Given the description of an element on the screen output the (x, y) to click on. 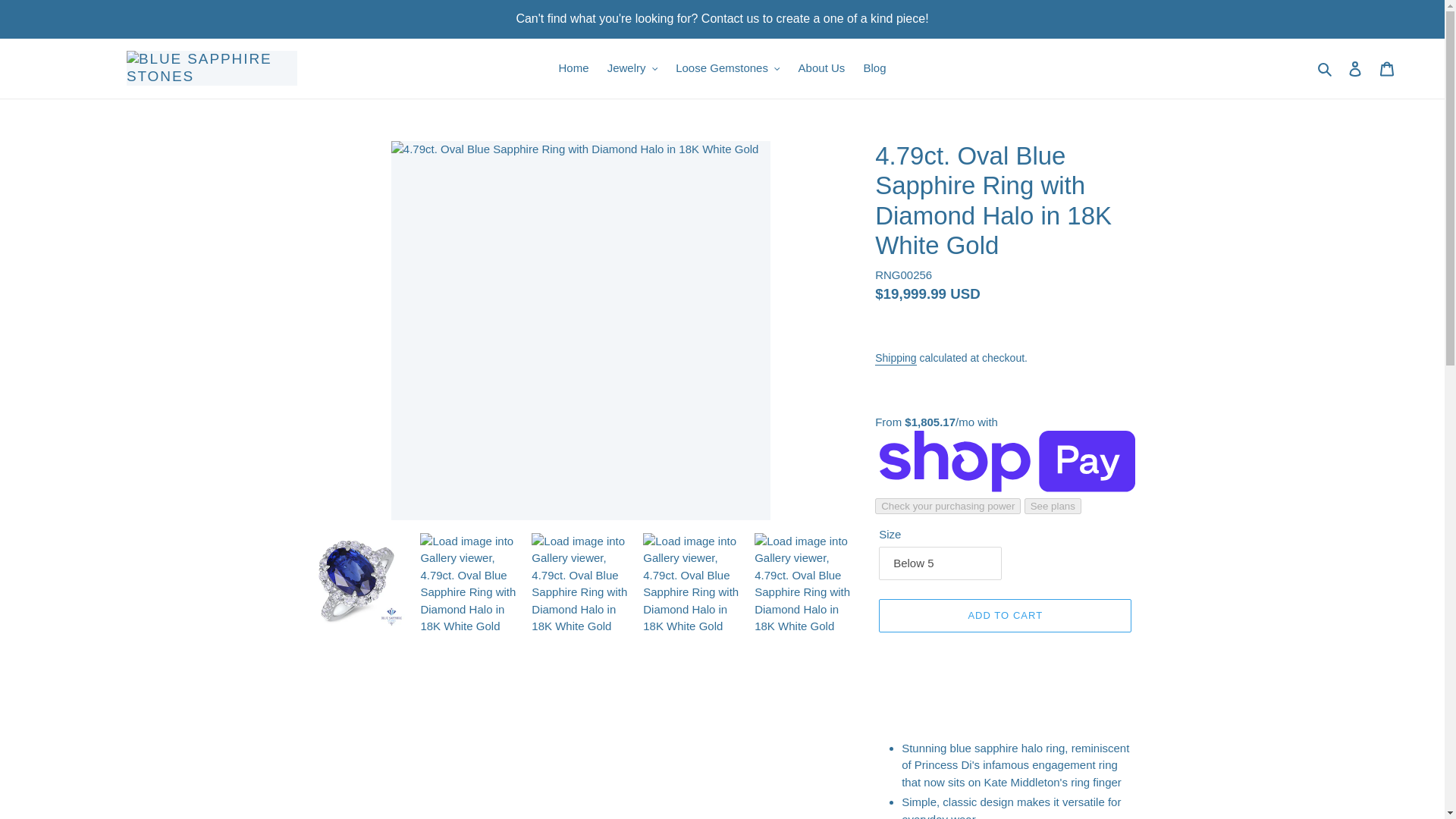
Jewelry (632, 68)
About Us (821, 68)
Home (572, 68)
Loose Gemstones (727, 68)
Search (1326, 67)
Blog (874, 68)
Cart (1387, 68)
Log in (1355, 68)
